Given the description of an element on the screen output the (x, y) to click on. 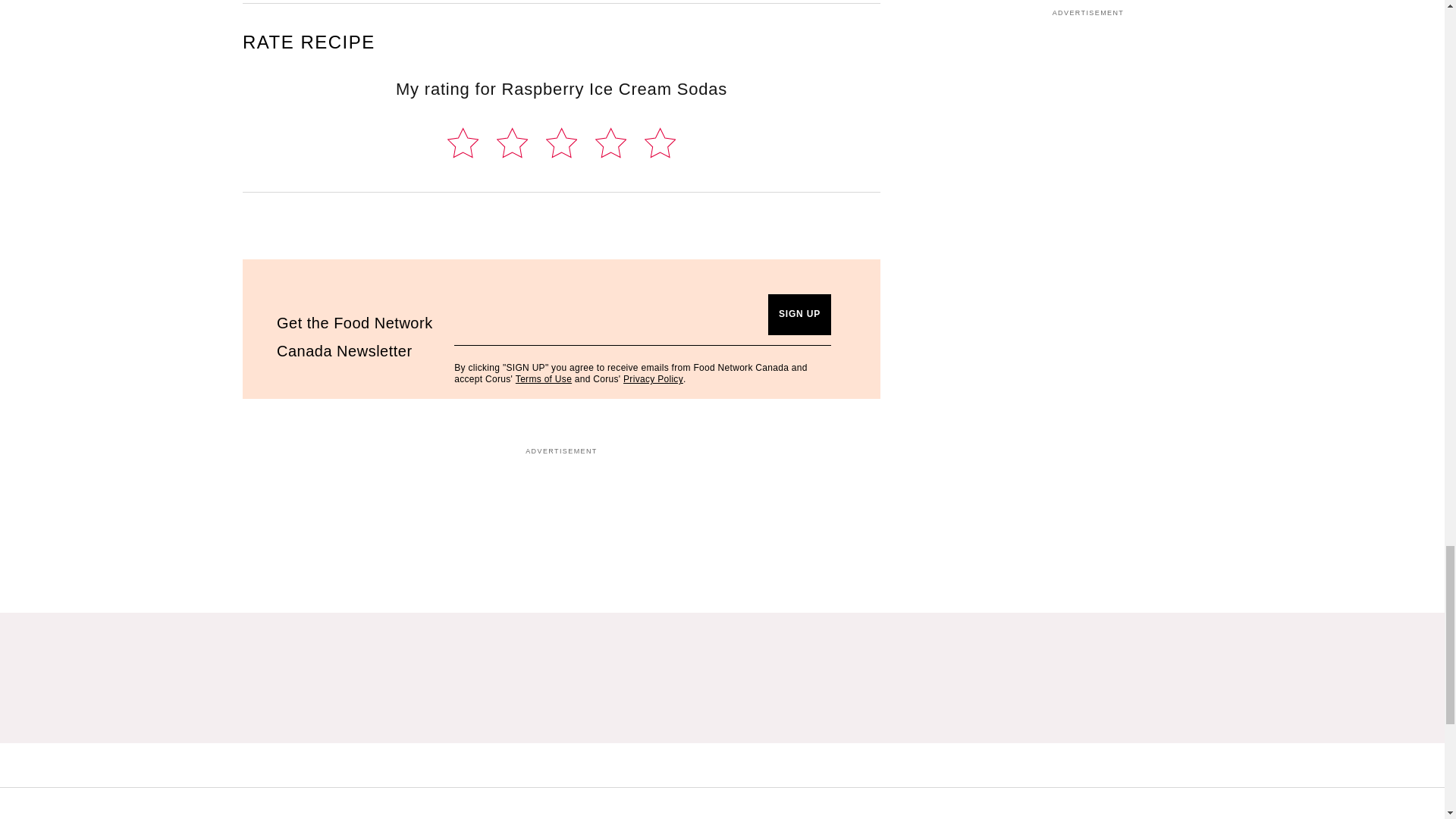
Privacy Policy (652, 378)
SIGN UP (799, 314)
Terms of Use (543, 378)
SIGN UP (799, 314)
